Given the description of an element on the screen output the (x, y) to click on. 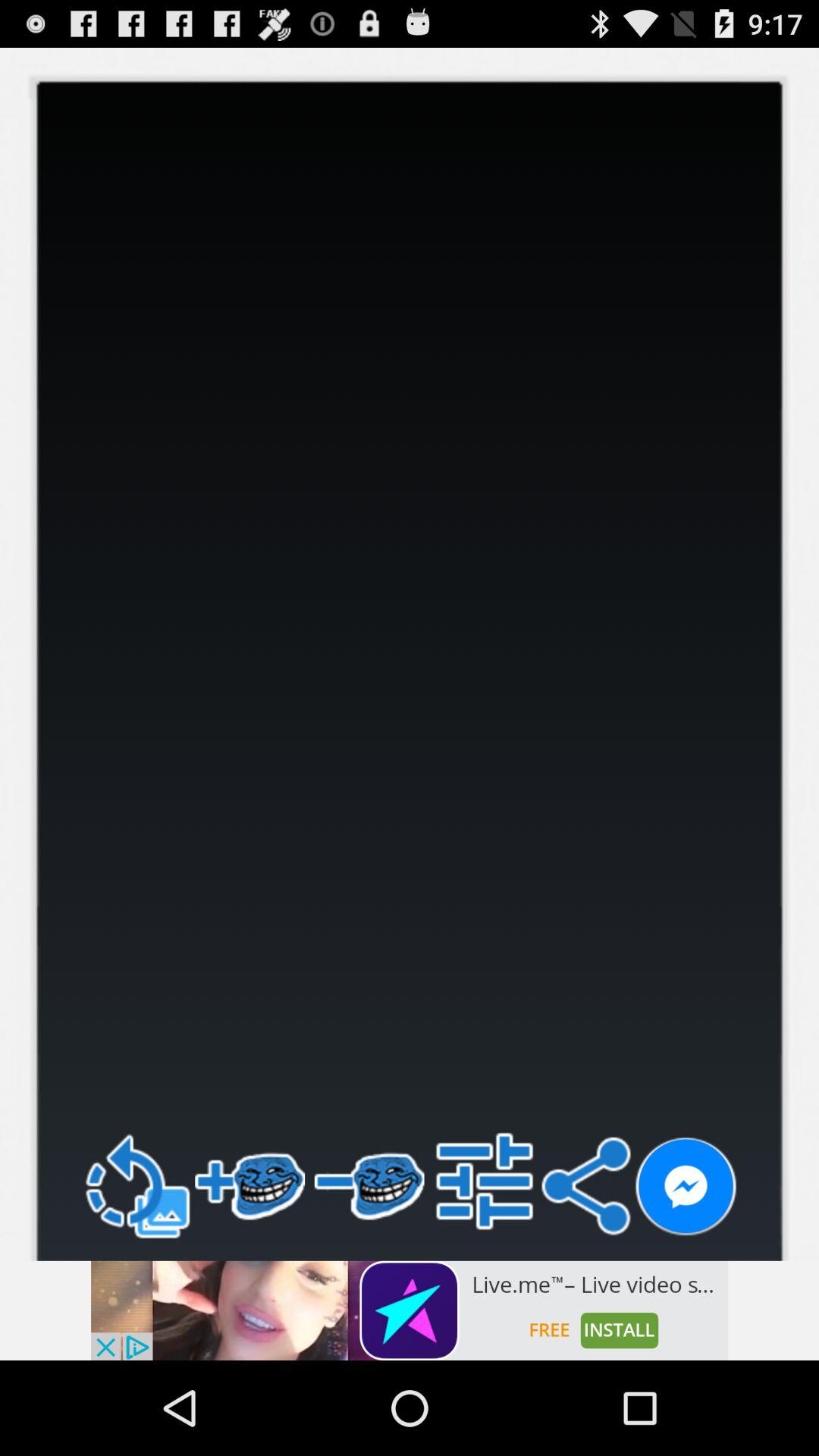
refresh option (136, 1186)
